Given the description of an element on the screen output the (x, y) to click on. 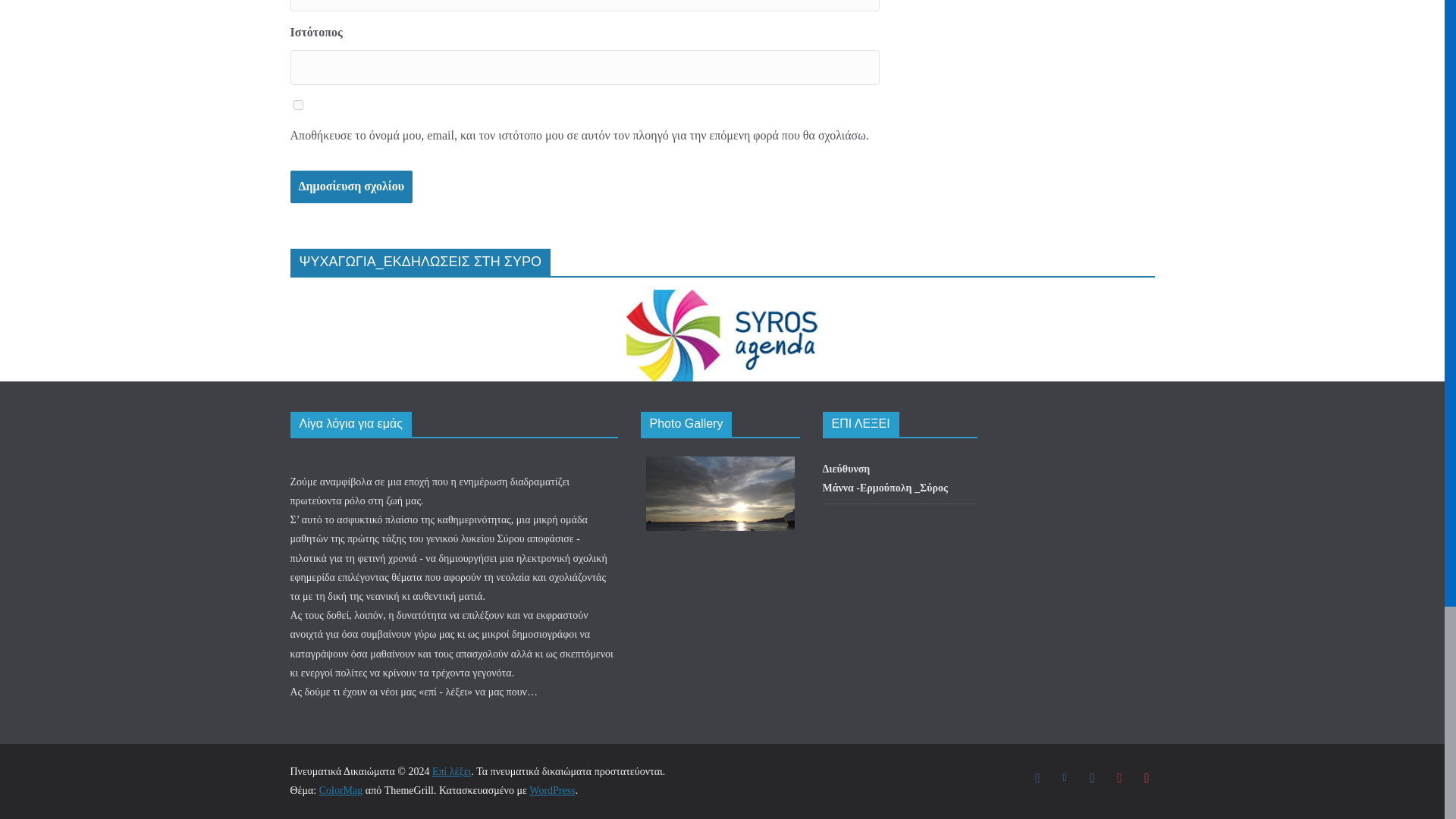
yes (297, 104)
